Given the description of an element on the screen output the (x, y) to click on. 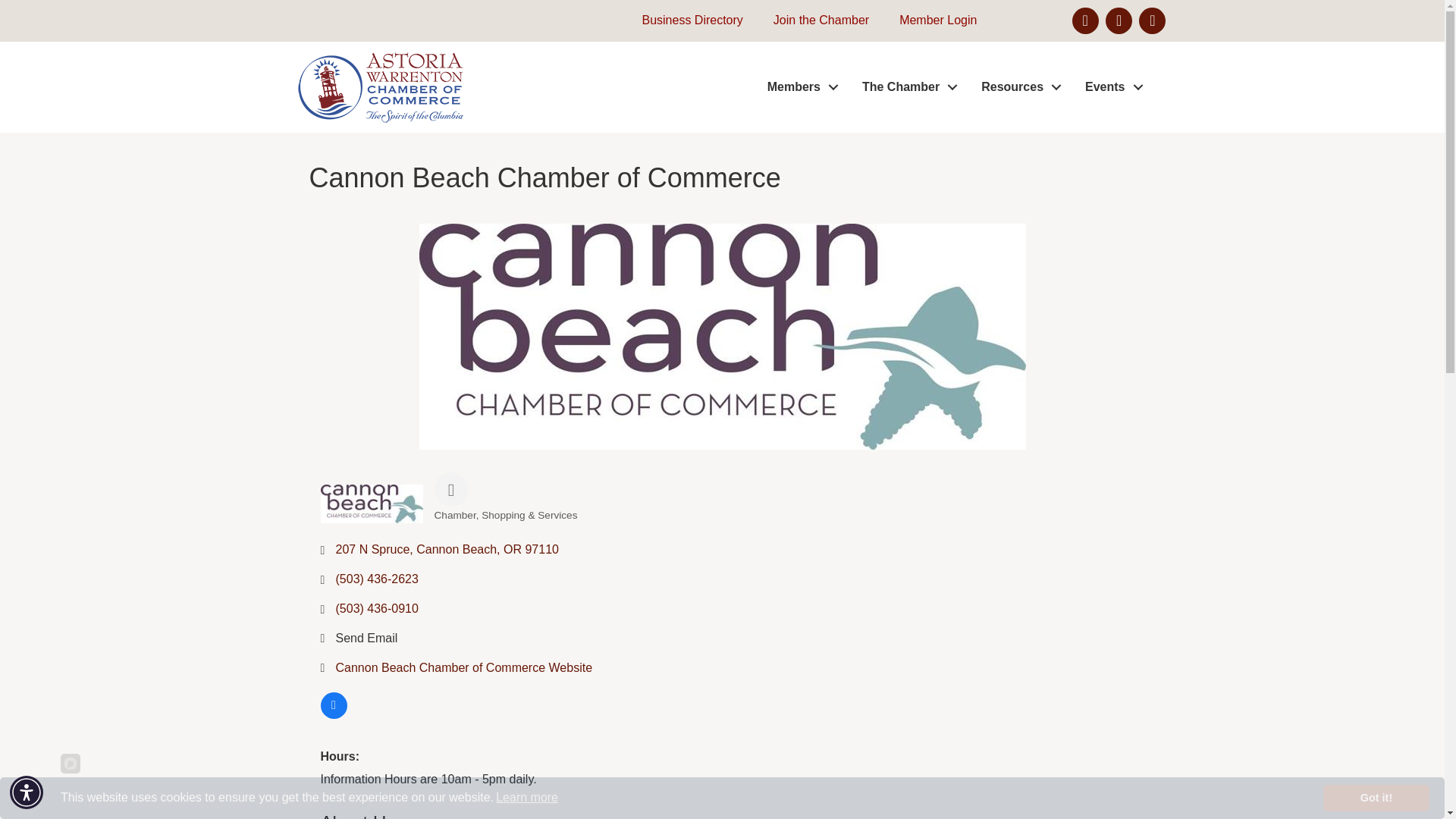
Business Directory (684, 20)
View on Facebook (333, 714)
Member Login (929, 20)
The Chamber (906, 87)
Members (798, 87)
Events (1110, 87)
Accessibility Menu (26, 792)
Cannon Beach Chamber of Commerce (371, 503)
Resources (1017, 87)
